Given the description of an element on the screen output the (x, y) to click on. 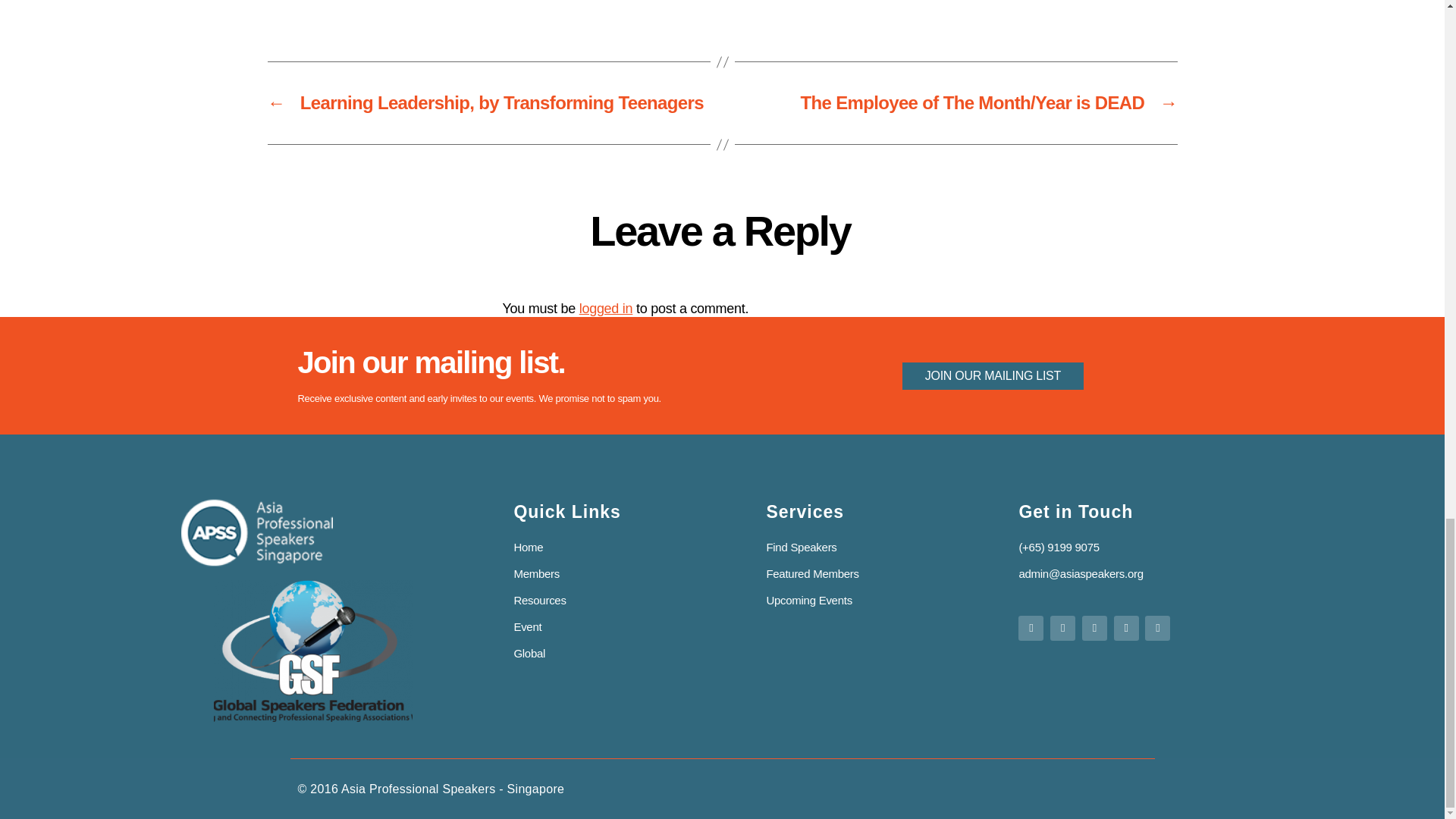
GSFLogo (313, 650)
